Given the description of an element on the screen output the (x, y) to click on. 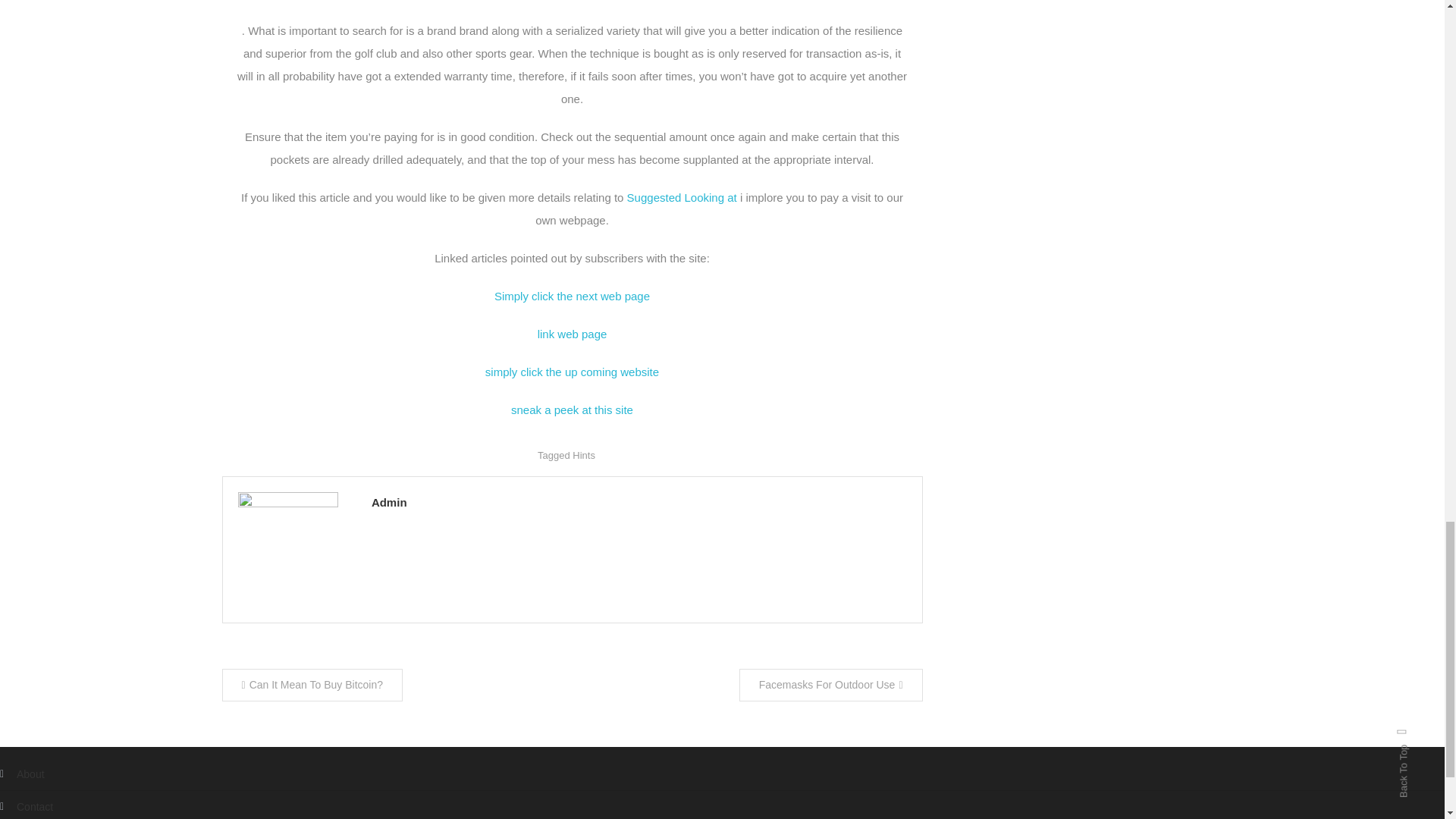
simply click the up coming website (571, 371)
Can It Mean To Buy Bitcoin? (312, 685)
Admin (639, 502)
About (22, 774)
sneak a peek at this site (572, 409)
Hints (583, 455)
Facemasks For Outdoor Use (831, 685)
link web page (572, 333)
Simply click the next web page (572, 295)
Suggested Looking at (681, 196)
